Given the description of an element on the screen output the (x, y) to click on. 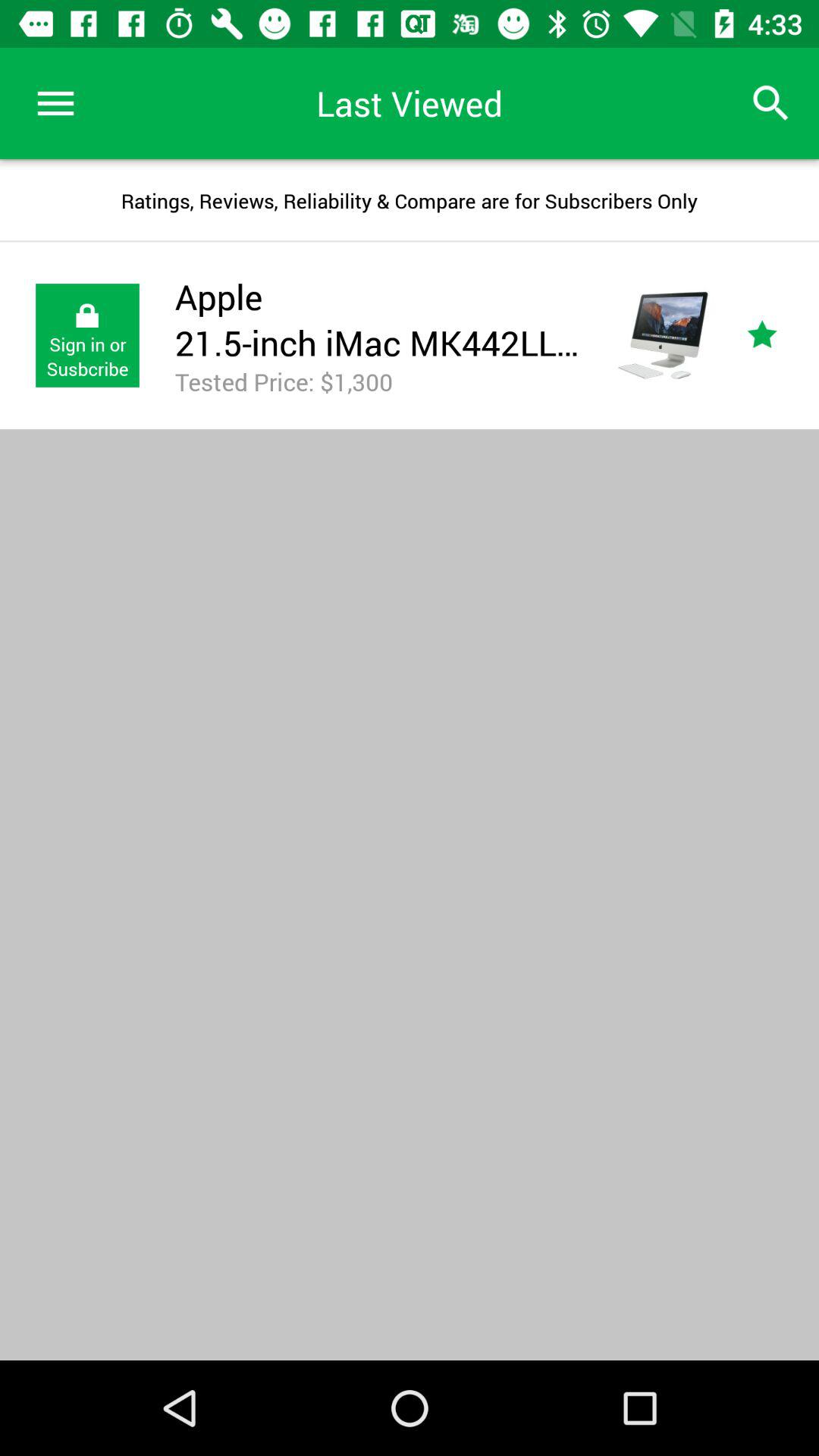
select the icon next to last viewed item (771, 103)
